Given the description of an element on the screen output the (x, y) to click on. 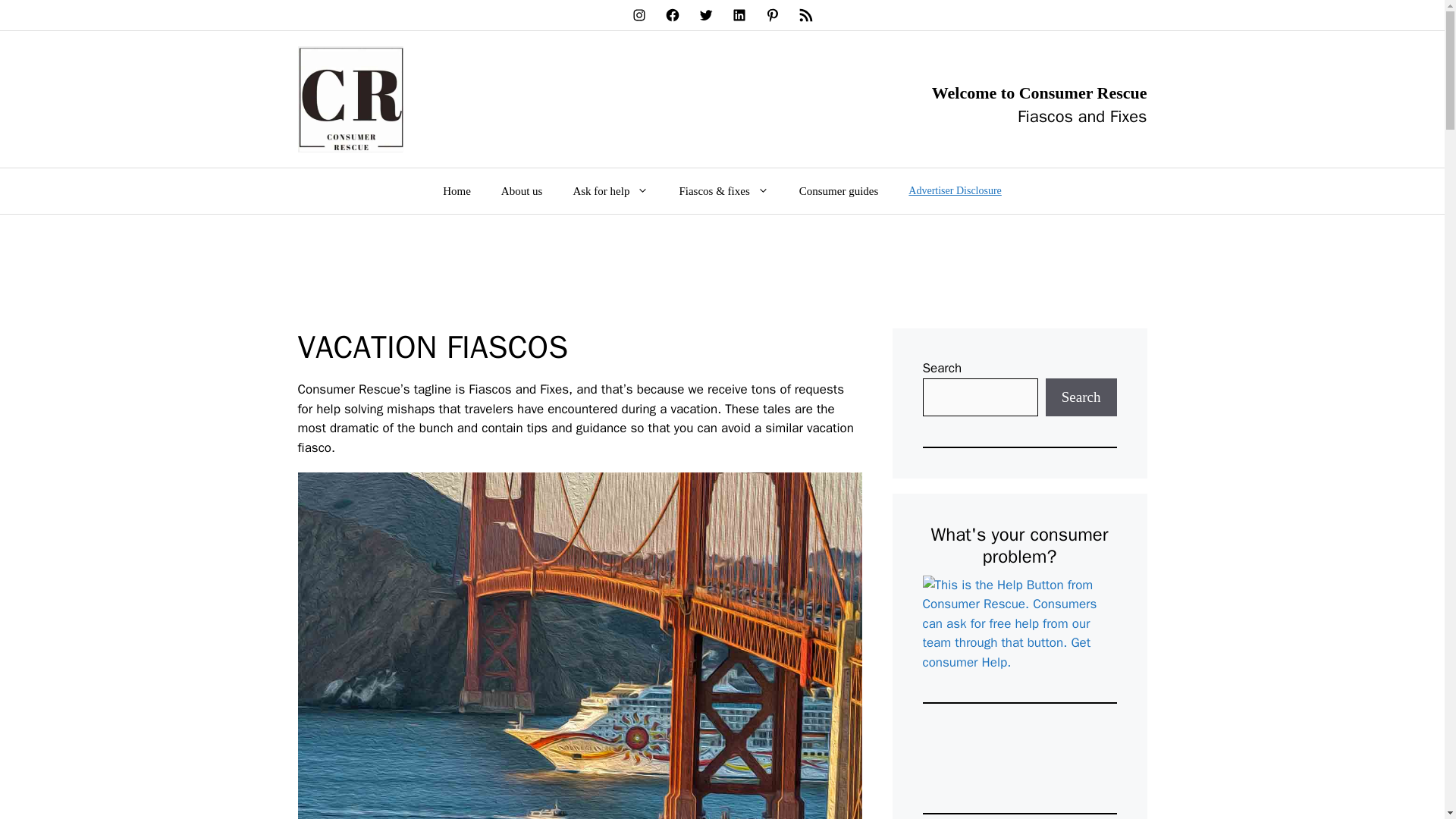
About us (521, 190)
Get help2 (1018, 623)
Ask for help (610, 190)
Advertiser Disclosure (954, 190)
Instagram (638, 14)
Home (457, 190)
RSS Feed (804, 14)
LinkedIn (737, 14)
Pinterest (771, 14)
Executive customer service finder (1018, 757)
